Given the description of an element on the screen output the (x, y) to click on. 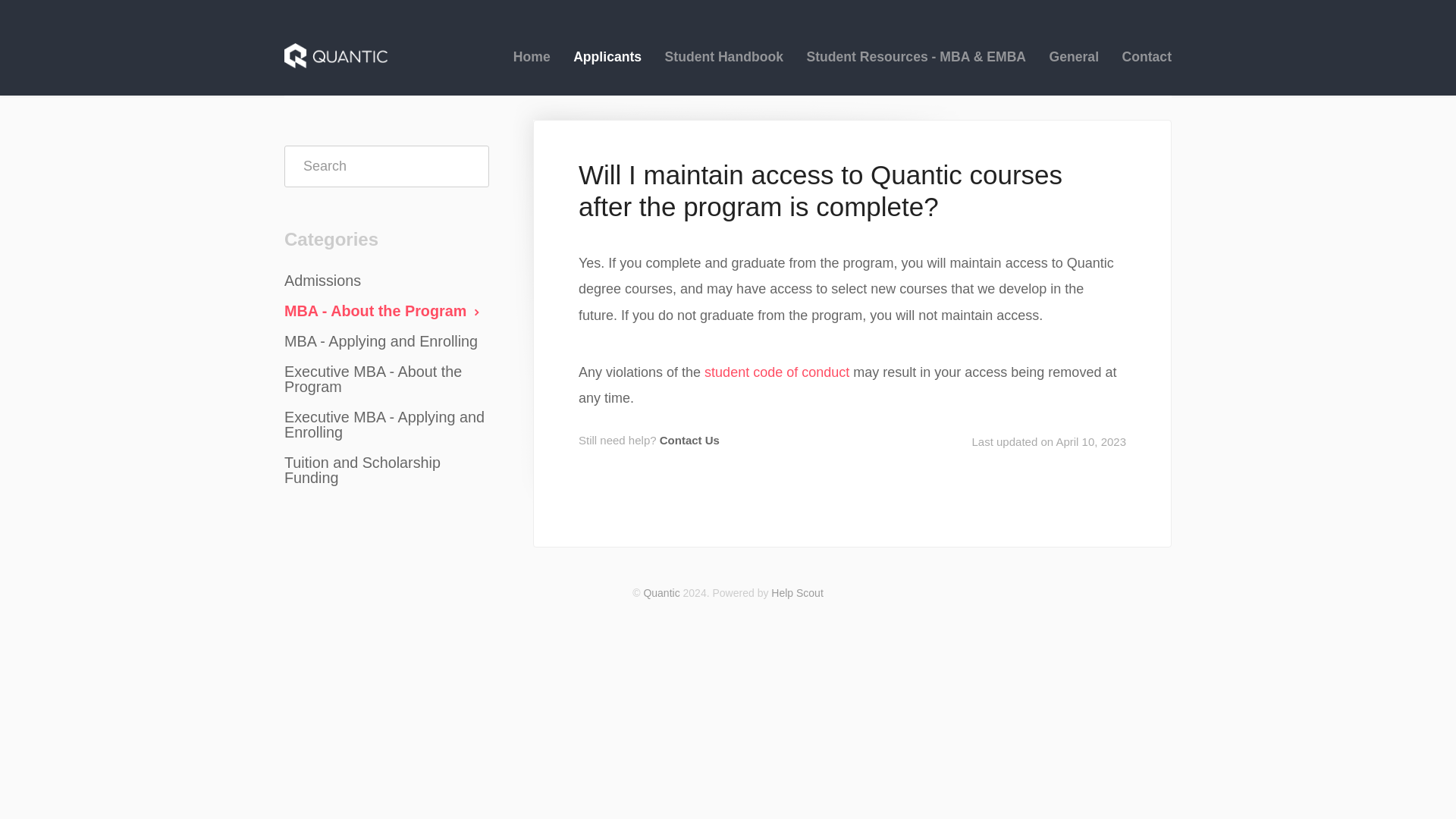
Home (531, 56)
Executive MBA - Applying and Enrolling (391, 424)
Quantic (661, 592)
MBA - About the Program (389, 310)
MBA - Applying and Enrolling (386, 340)
Applicants (606, 56)
Tuition and Scholarship Funding (391, 469)
Student Handbook (724, 56)
search-query (386, 166)
Contact Us (689, 440)
General (1074, 56)
student code of conduct (776, 372)
Admissions (327, 280)
Help Scout (796, 592)
Executive MBA - About the Program (391, 378)
